Given the description of an element on the screen output the (x, y) to click on. 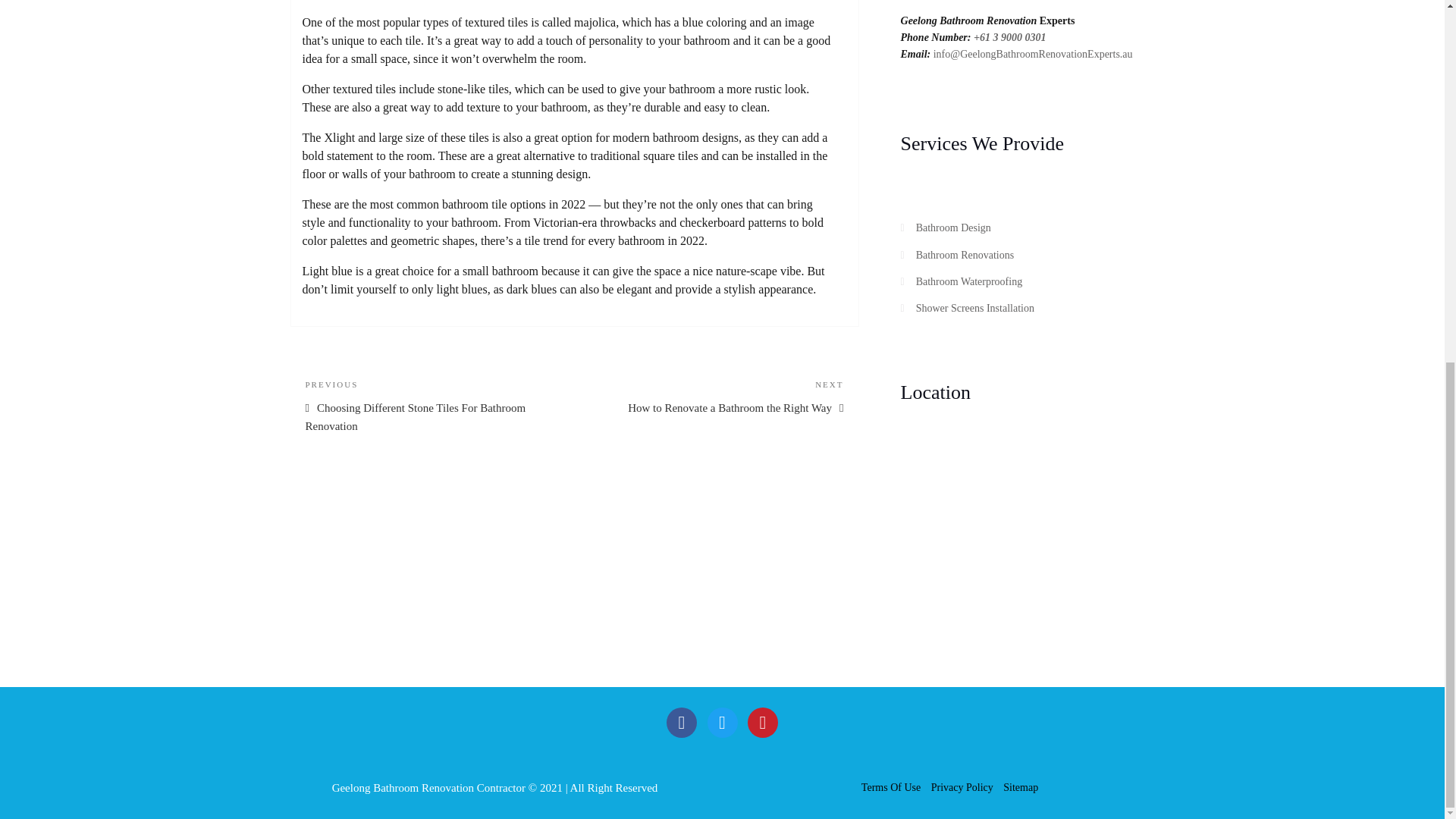
Shower Screens Installation (974, 307)
Google-Plus (762, 722)
Bathroom Renovations (964, 255)
Twitter (716, 396)
Bathroom Waterproofing (721, 722)
Facebook (969, 281)
Bathroom Design (681, 722)
Terms Of Use (953, 227)
